Given the description of an element on the screen output the (x, y) to click on. 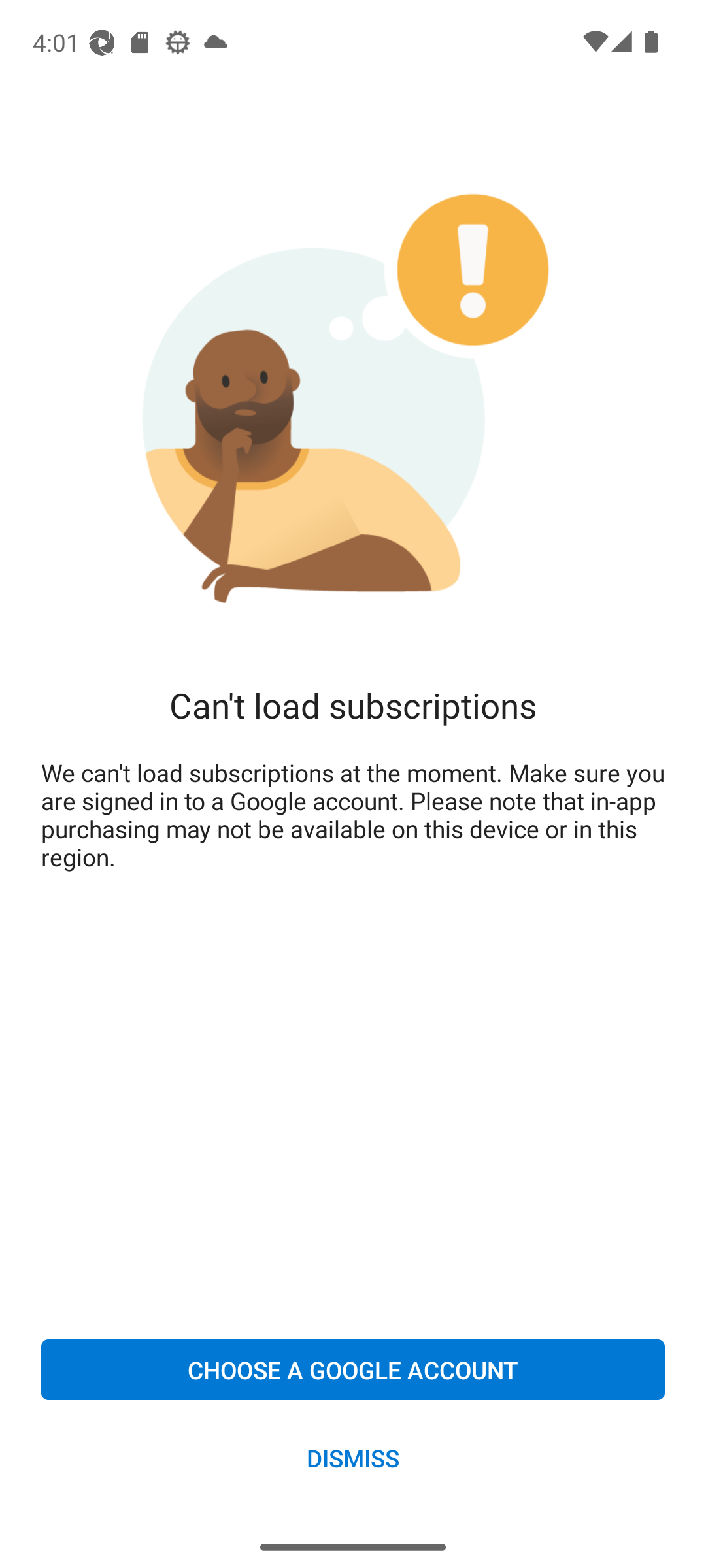
CHOOSE A GOOGLE ACCOUNT (352, 1369)
DISMISS (352, 1457)
